Given the description of an element on the screen output the (x, y) to click on. 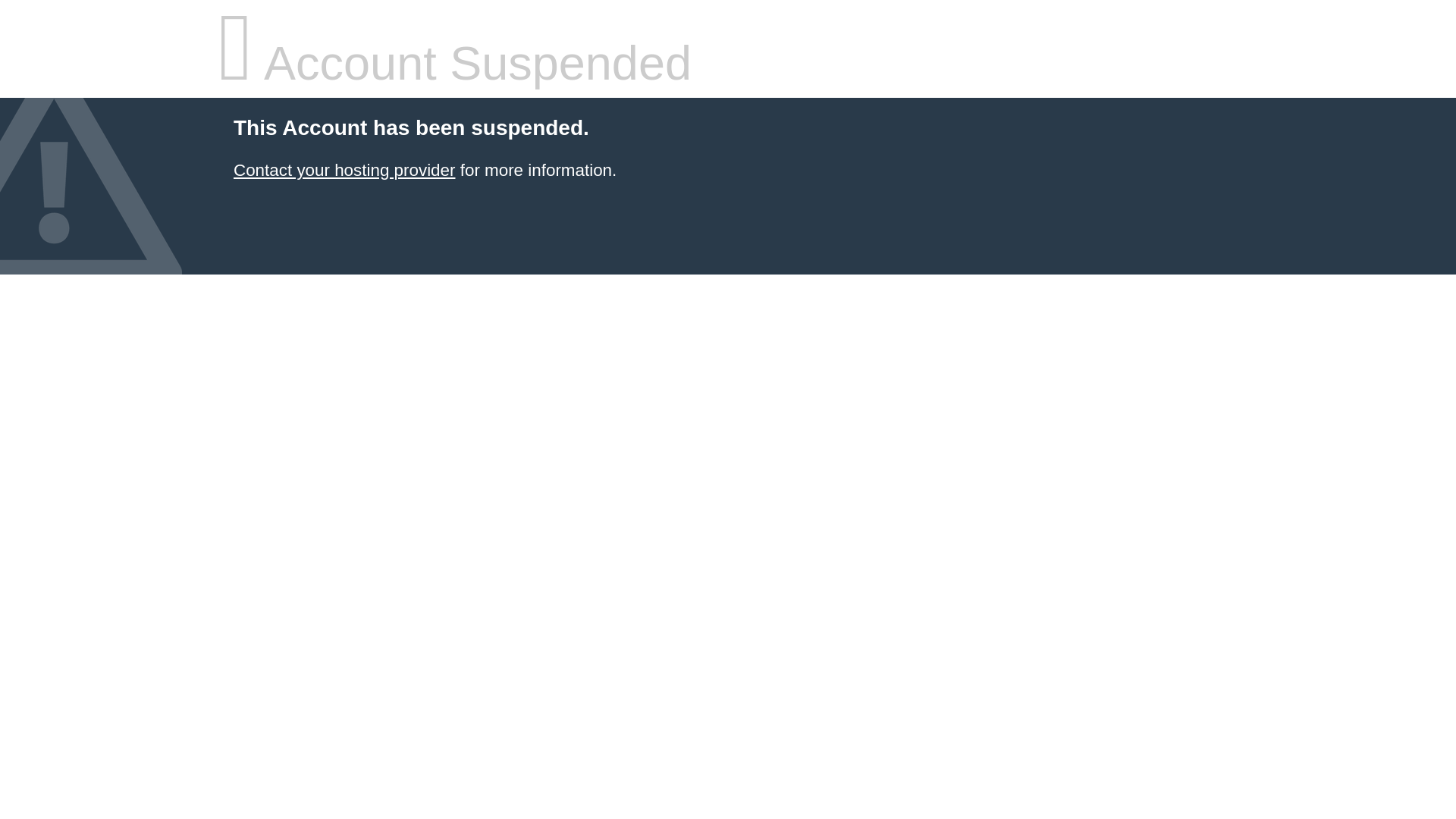
Contact your hosting provider (343, 169)
